Given the description of an element on the screen output the (x, y) to click on. 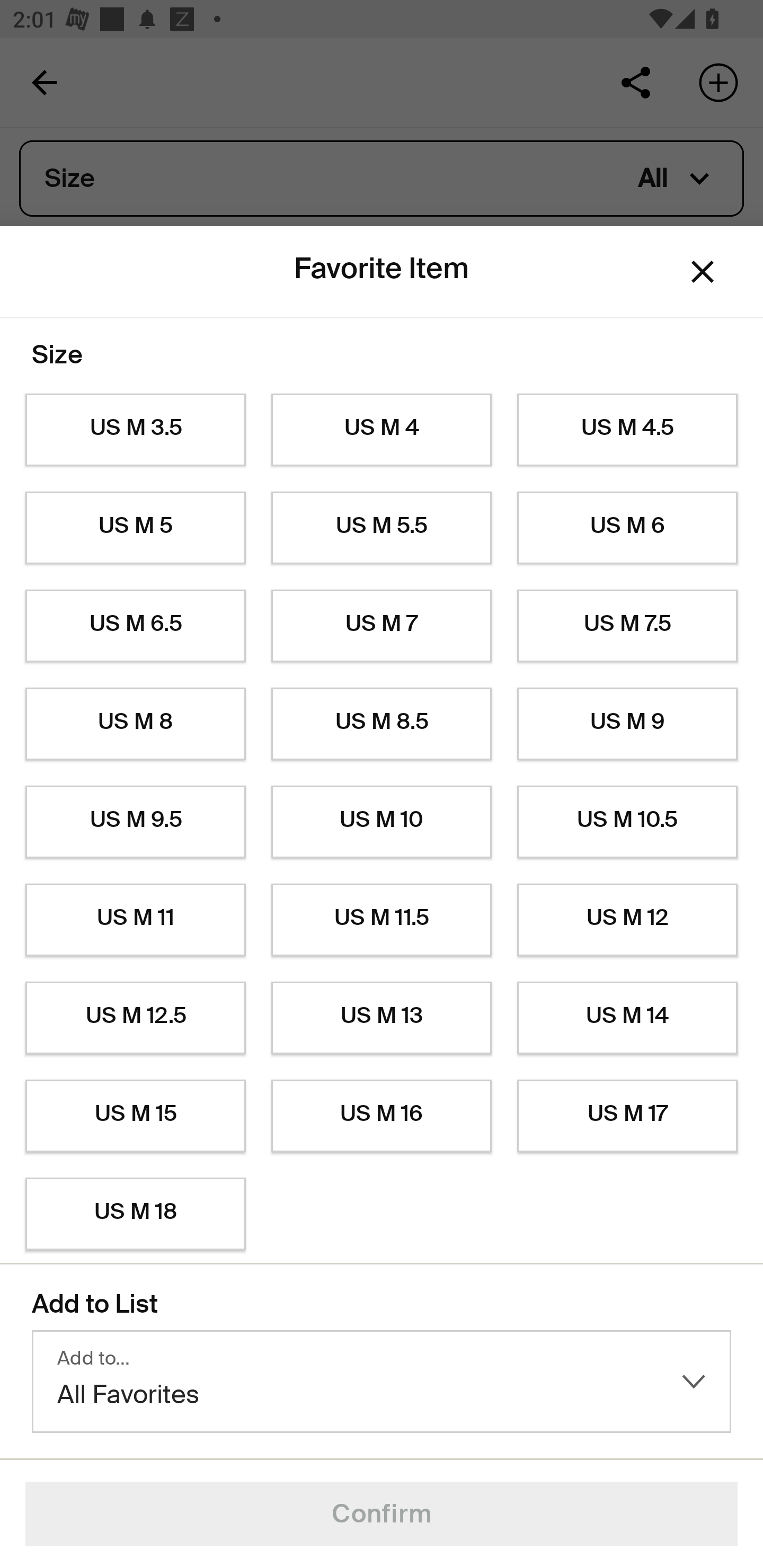
Dismiss (702, 271)
US M 3.5 (135, 430)
US M 4 (381, 430)
US M 4.5 (627, 430)
US M 5 (135, 527)
US M 5.5 (381, 527)
US M 6 (627, 527)
US M 6.5 (135, 626)
US M 7 (381, 626)
US M 7.5 (627, 626)
US M 8 (135, 724)
US M 8.5 (381, 724)
US M 9 (627, 724)
US M 9.5 (135, 822)
US M 10 (381, 822)
US M 10.5 (627, 822)
US M 11 (135, 919)
US M 11.5 (381, 919)
US M 12 (627, 919)
US M 12.5 (135, 1018)
US M 13 (381, 1018)
US M 14 (627, 1018)
US M 15 (135, 1116)
US M 16 (381, 1116)
US M 17 (627, 1116)
US M 18 (135, 1214)
Add to… All Favorites (381, 1381)
Confirm (381, 1513)
